Given the description of an element on the screen output the (x, y) to click on. 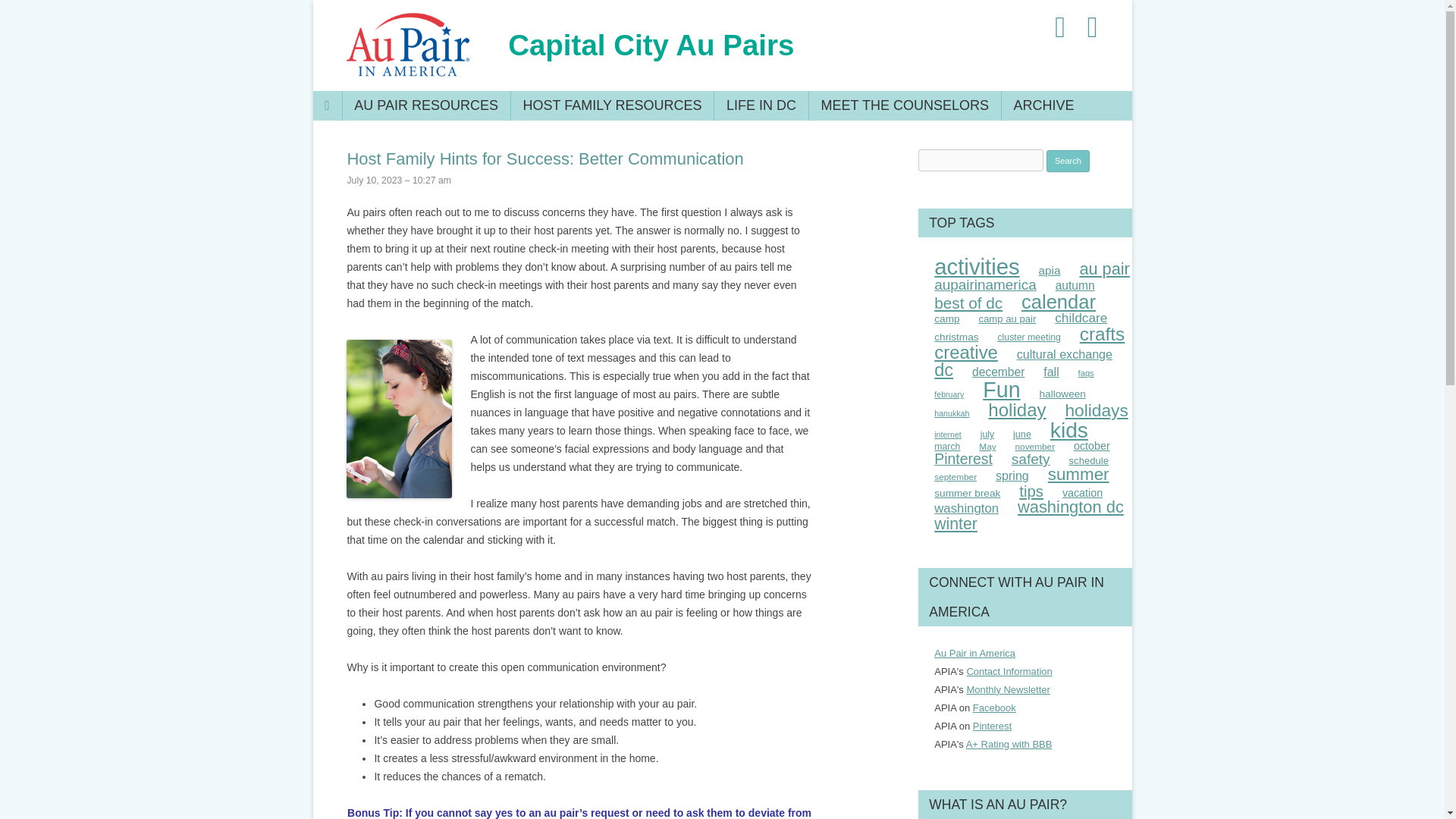
ARCHIVE (1043, 105)
camp (946, 318)
best of dc (968, 303)
autumn (1074, 285)
au pair (1103, 268)
aupairinamerica (985, 284)
activities (976, 266)
APIA Monthly Corporate Newsletter (1007, 689)
MEET THE COUNSELORS (904, 105)
Pinterest APIA Kids Site (991, 726)
Capital City Au Pairs (650, 45)
HOST FAMILY RESOURCES (612, 105)
Au Pair in America Corporate Page (994, 707)
